Given the description of an element on the screen output the (x, y) to click on. 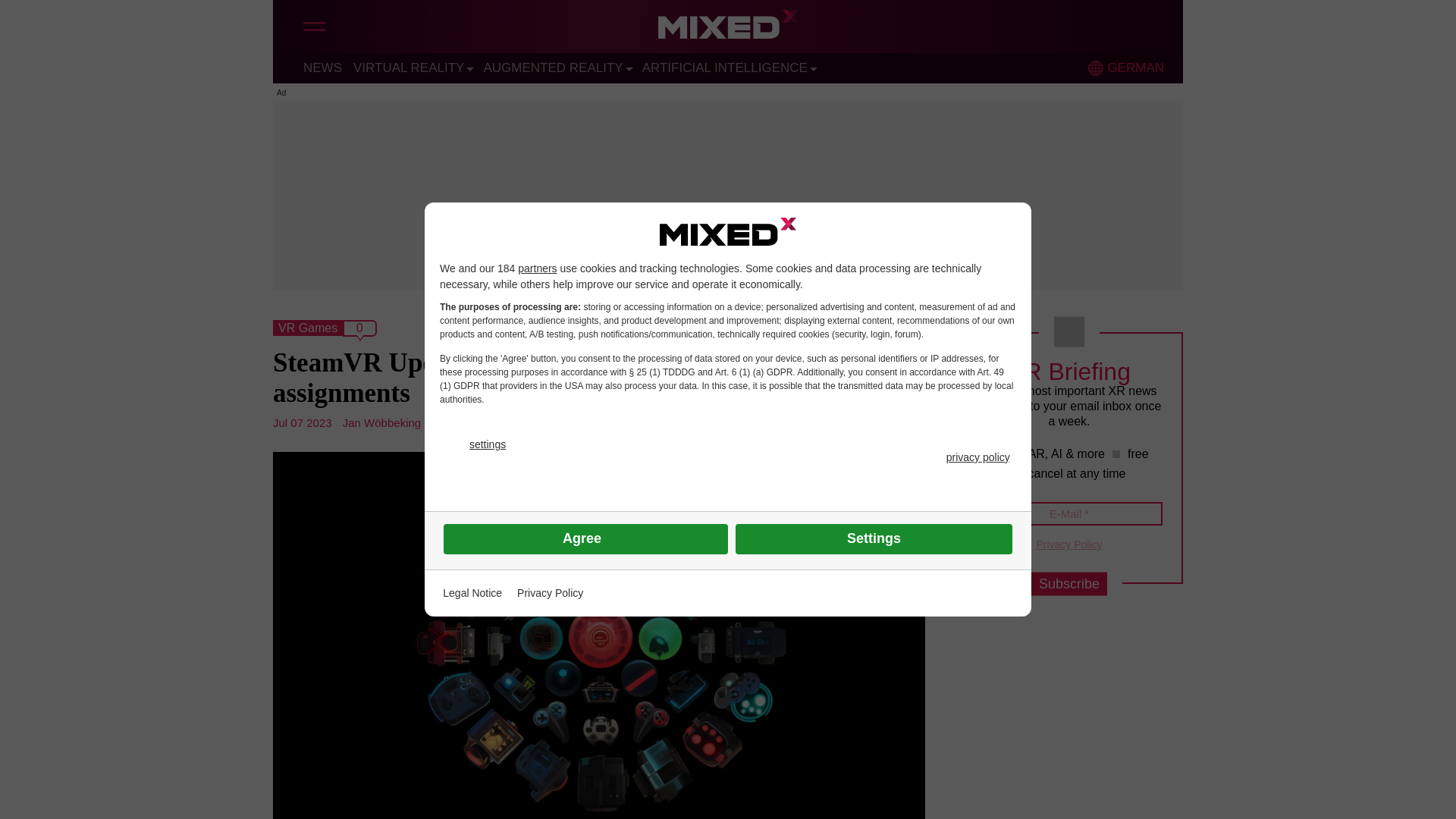
german (1095, 68)
MIXED Reality News (727, 28)
ARTIFICIAL INTELLIGENCE (725, 67)
NEWS (322, 67)
MIXED Reality News (727, 28)
Jul 07 2023 (302, 422)
AUGMENTED REALITY (553, 67)
VIRTUAL REALITY (408, 67)
Subscribe (1068, 584)
